Given the description of an element on the screen output the (x, y) to click on. 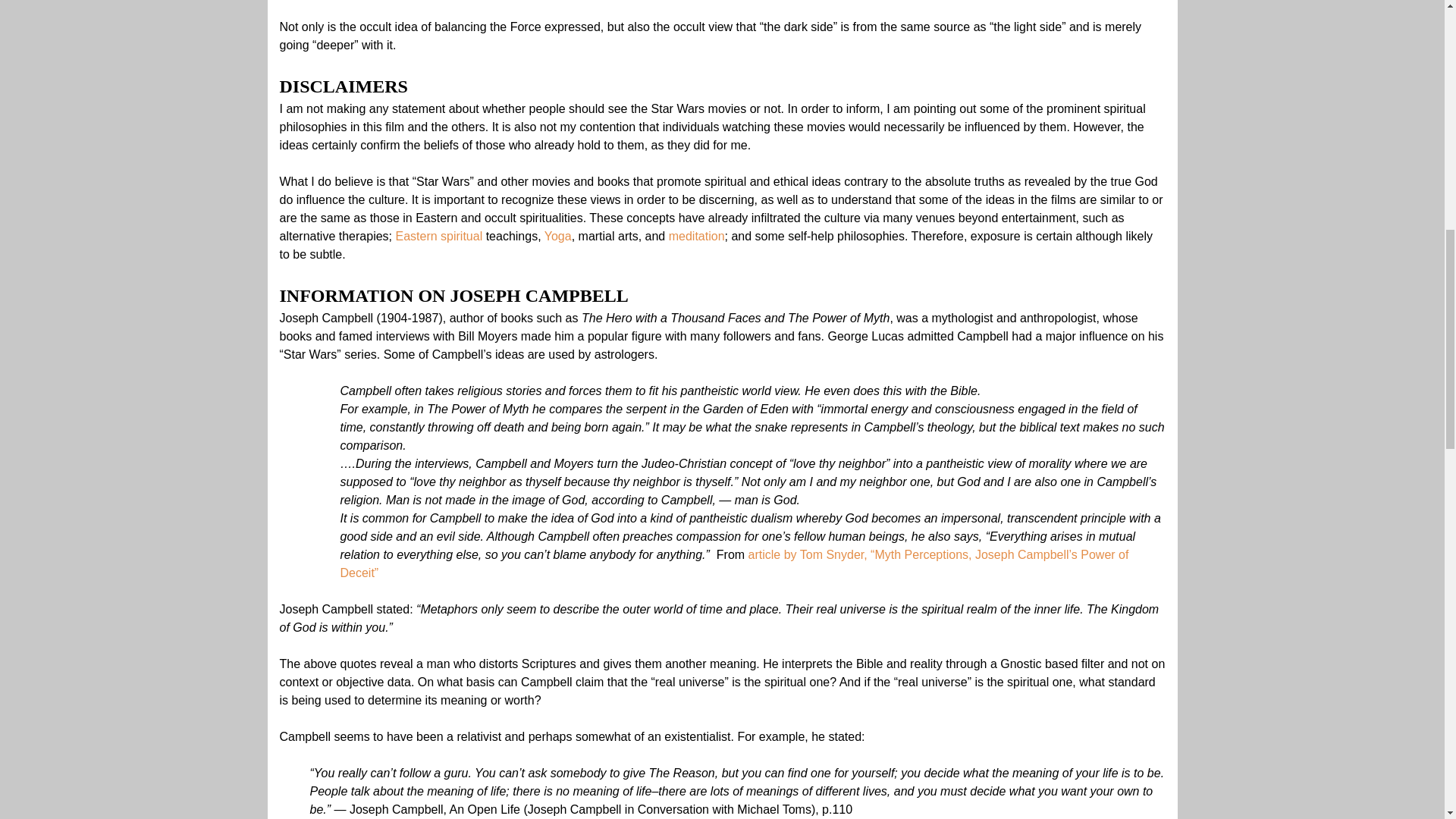
Yoga (558, 236)
meditation (696, 236)
Eastern spiritual (437, 236)
